Given the description of an element on the screen output the (x, y) to click on. 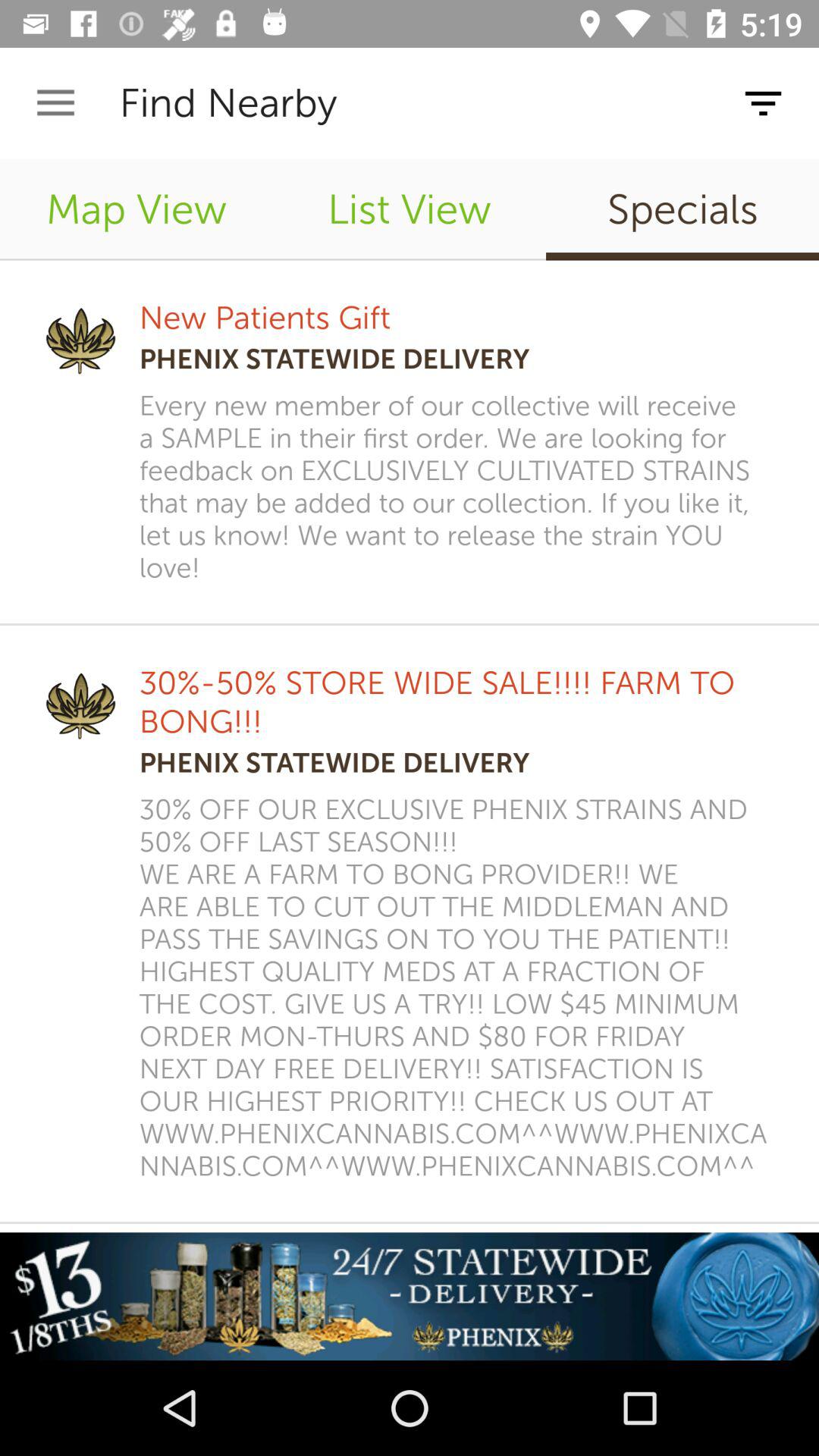
turn on icon to the left of list view item (136, 209)
